Given the description of an element on the screen output the (x, y) to click on. 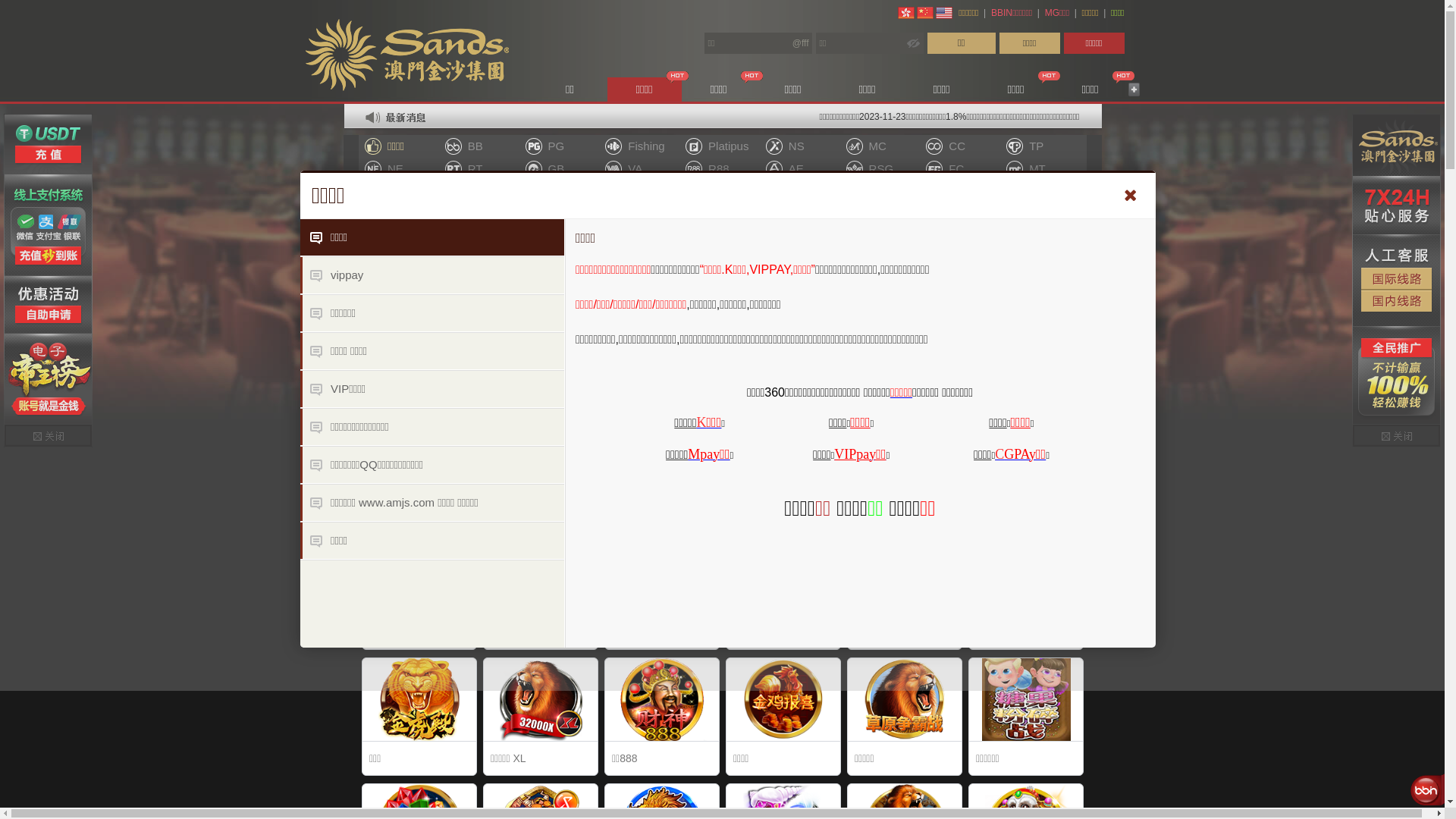
English Element type: hover (943, 12)
C Element type: text (999, 453)
